Given the description of an element on the screen output the (x, y) to click on. 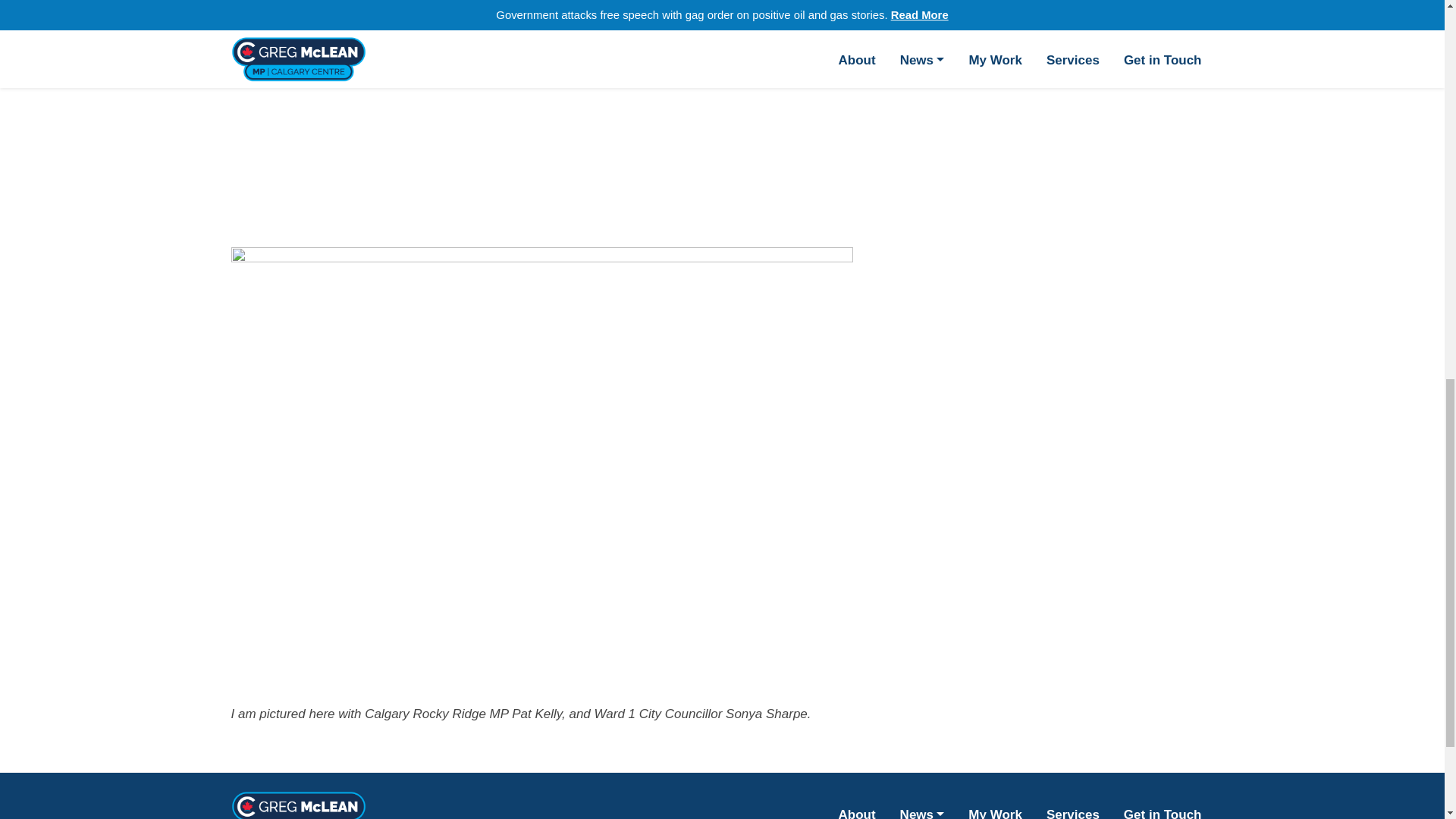
News (922, 807)
Services (1072, 807)
My Work (994, 807)
Get in Touch (1163, 807)
About (857, 807)
